Given the description of an element on the screen output the (x, y) to click on. 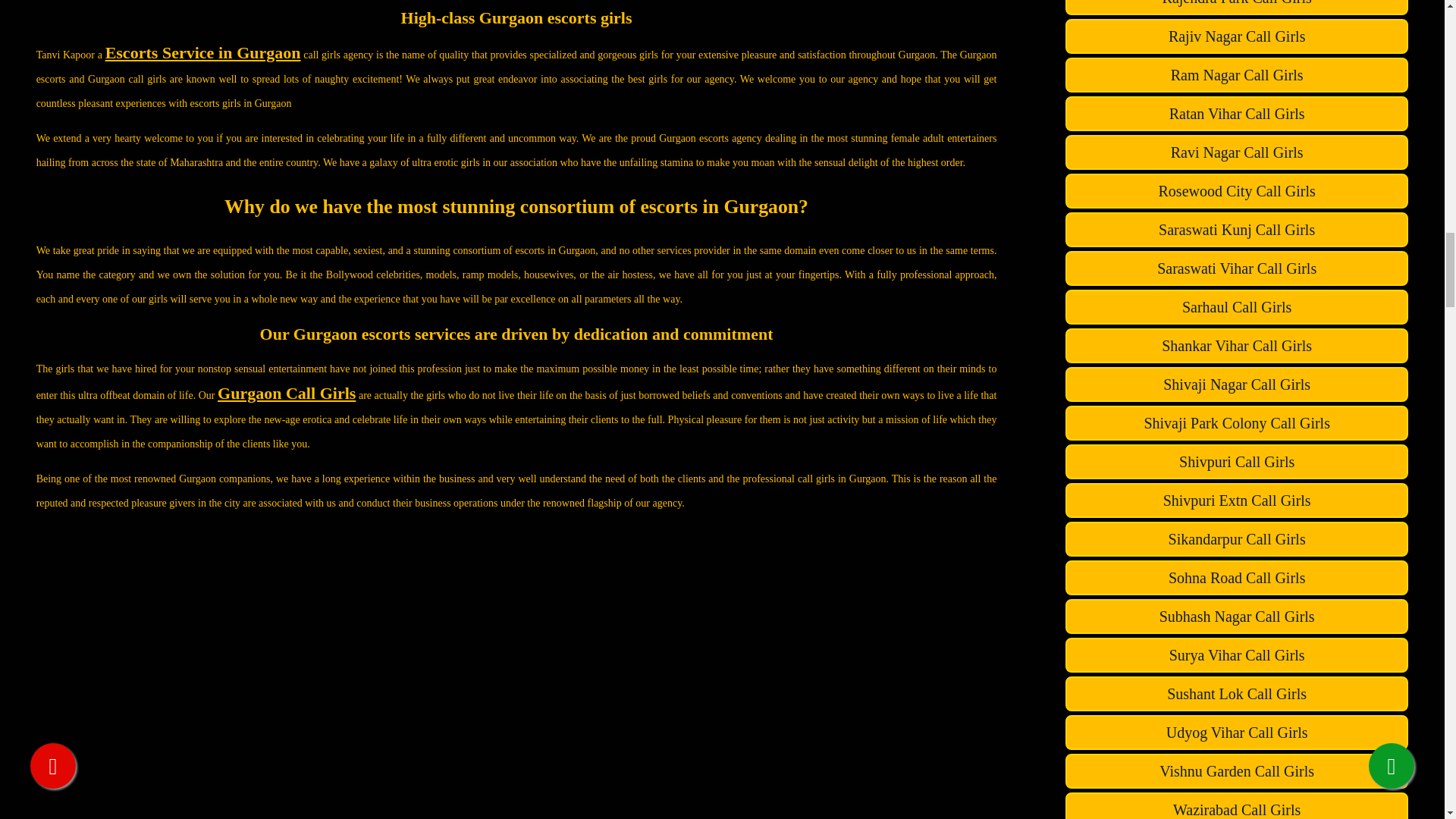
Escorts Service in Gurgaon (202, 52)
Gurgaon Call Girls (285, 393)
